Given the description of an element on the screen output the (x, y) to click on. 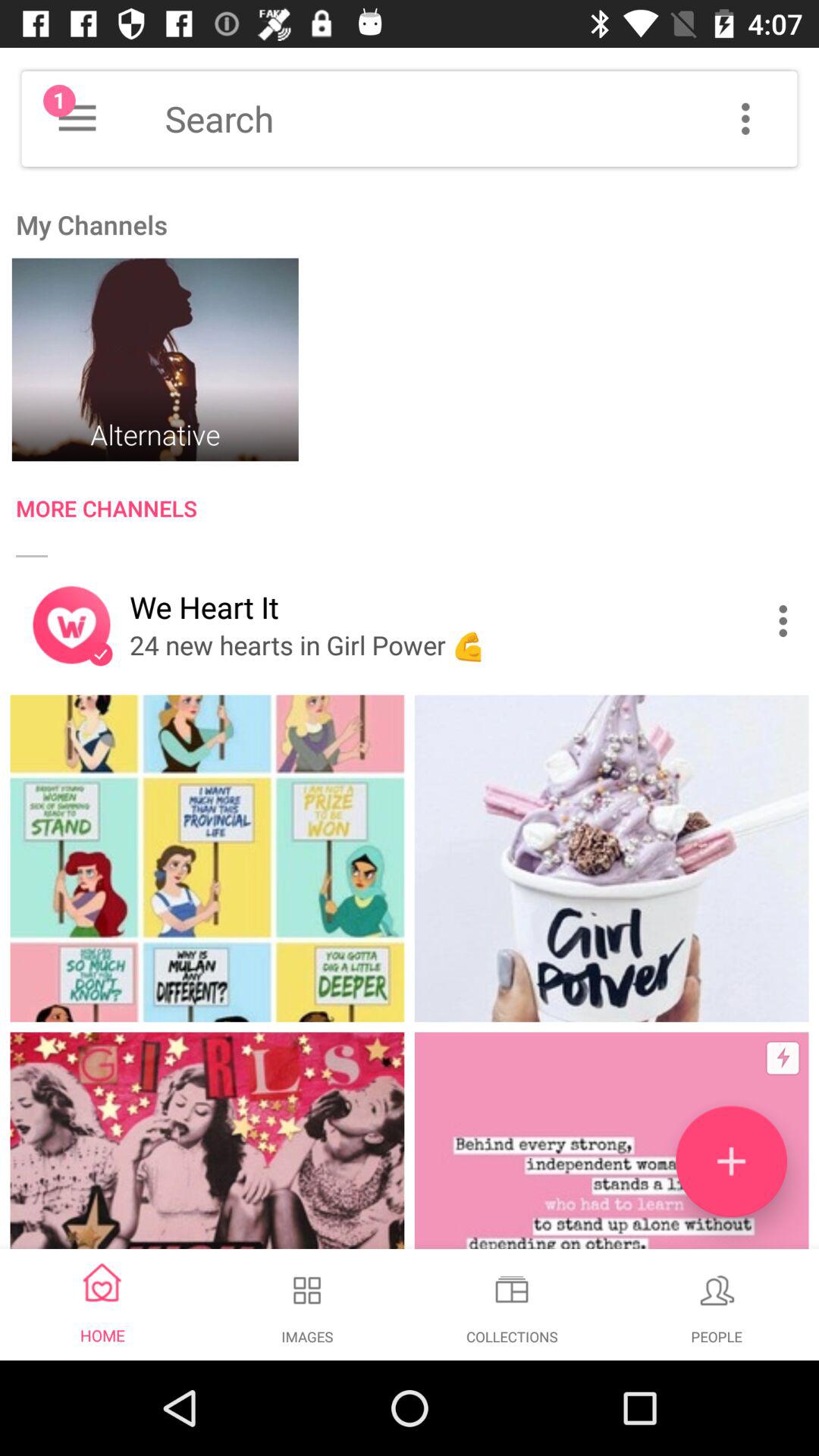
click the item to the right of the we heart it (787, 620)
